Given the description of an element on the screen output the (x, y) to click on. 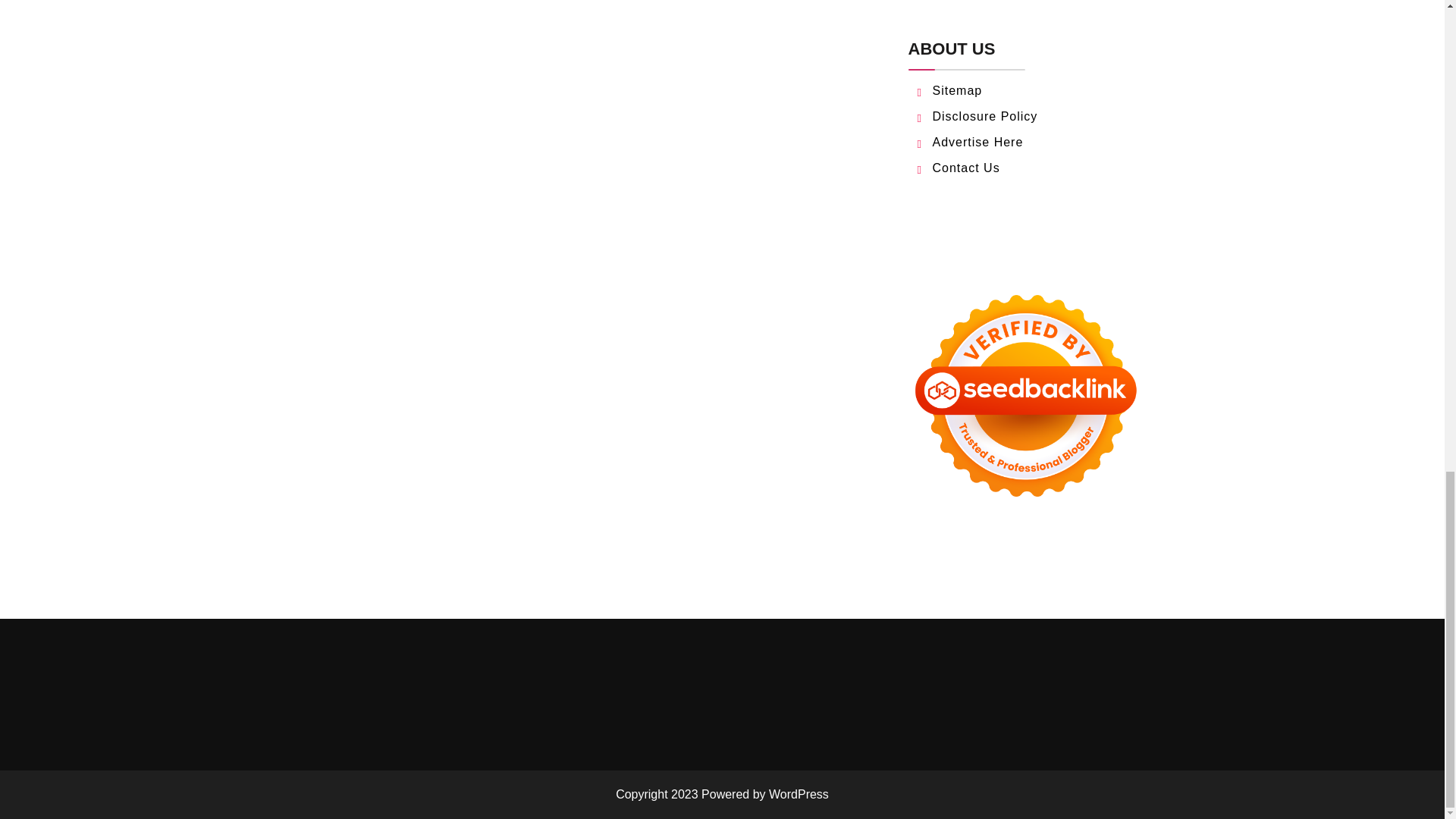
Seedbacklink (1025, 395)
